Given the description of an element on the screen output the (x, y) to click on. 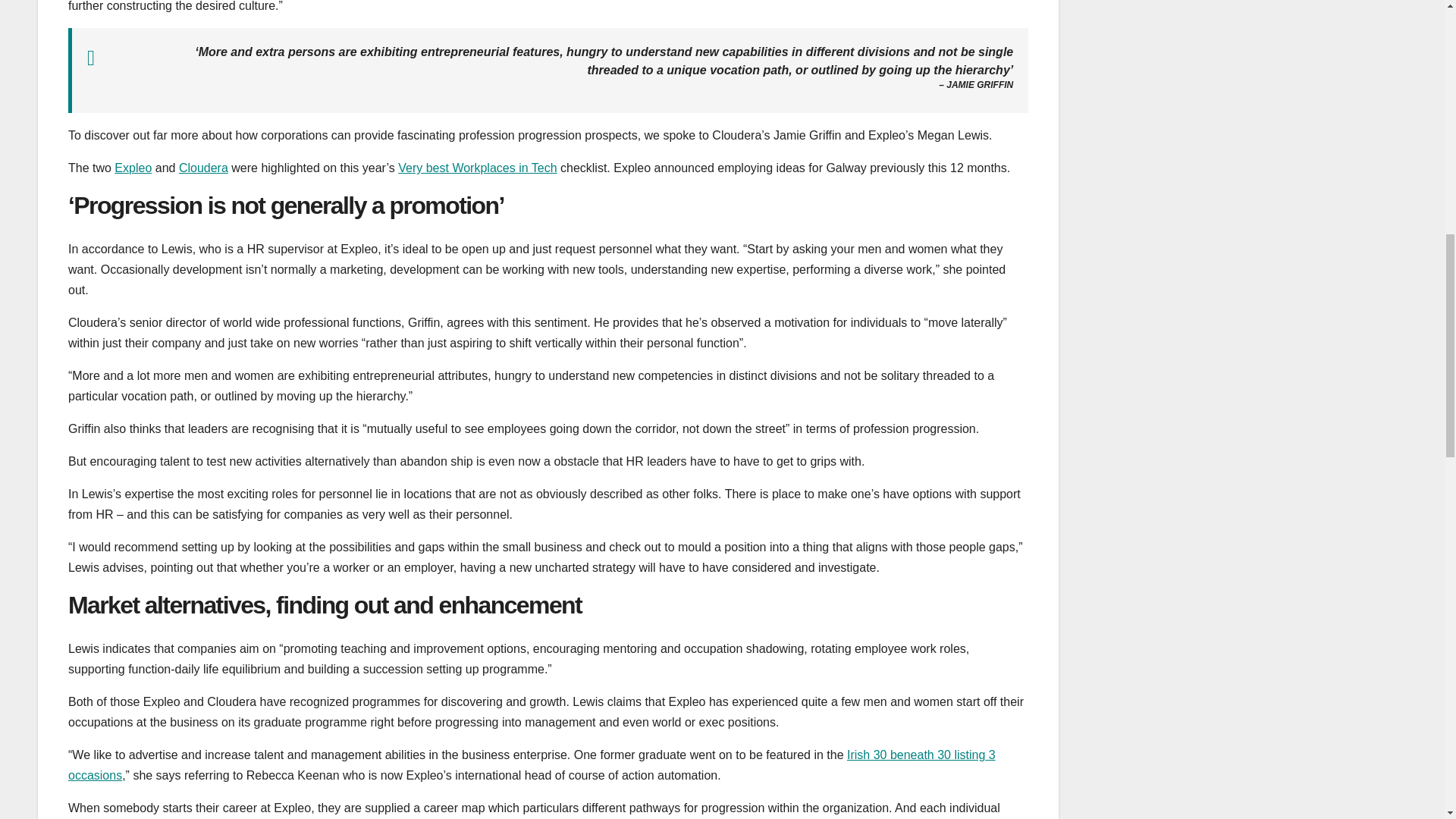
Irish 30 beneath 30 listing 3 occasions (531, 765)
Very best Workplaces in Tech (476, 167)
Expleo (133, 167)
Cloudera (203, 167)
